Given the description of an element on the screen output the (x, y) to click on. 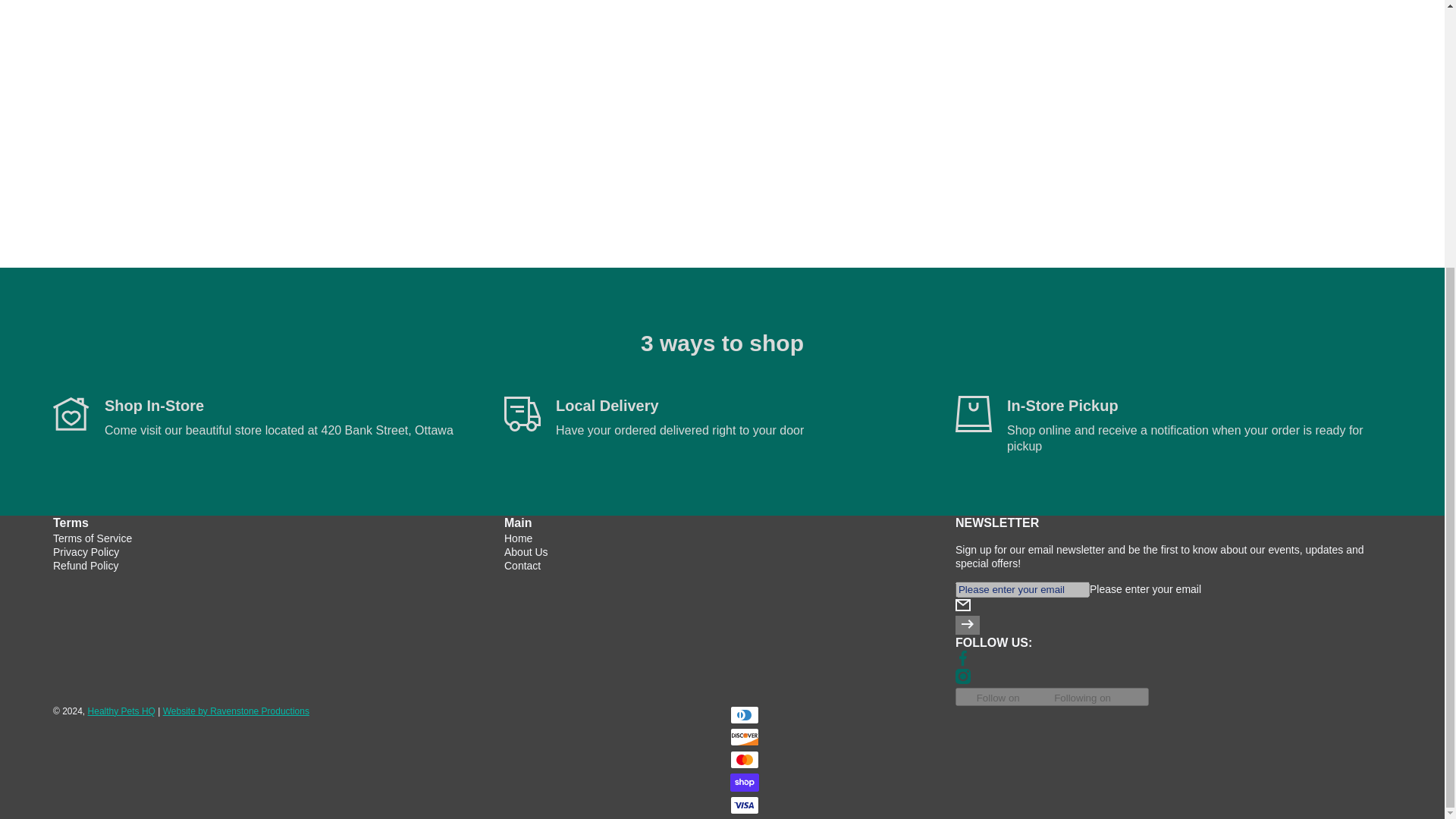
Mastercard (743, 760)
Visa (743, 805)
Discover (743, 737)
Shop Pay (743, 782)
Diners Club (743, 714)
